Given the description of an element on the screen output the (x, y) to click on. 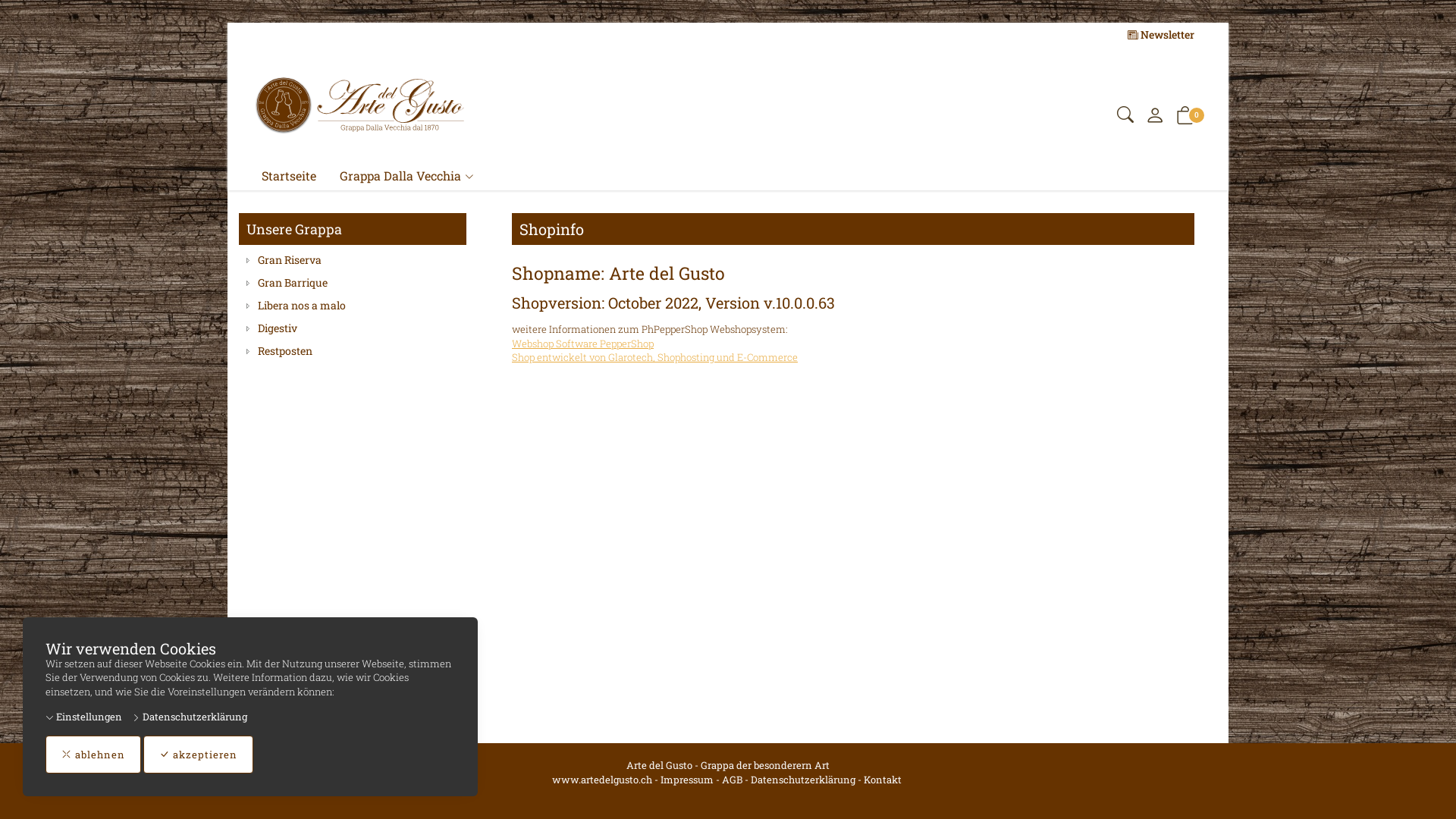
Impressum Element type: text (686, 779)
Einstellungen Element type: text (83, 716)
AGB Element type: text (731, 779)
Gran Barrique Element type: text (352, 282)
Restposten Element type: text (352, 350)
Grappa Dalla Vecchia Element type: text (407, 175)
Digestiv Element type: text (352, 327)
Mein Konto Element type: hover (1154, 118)
0 Element type: text (1185, 118)
Libera nos a malo Element type: text (352, 305)
Suche Element type: hover (1125, 117)
Kontakt Element type: text (882, 779)
Newsletter Element type: text (1160, 34)
Startseite Element type: text (289, 175)
akzeptieren Element type: text (198, 754)
ablehnen Element type: text (93, 754)
www.artedelgusto.ch Element type: text (602, 779)
Gran Riserva Element type: text (352, 259)
Shop entwickelt von Glarotech, Shophosting und E-Commerce Element type: text (654, 357)
Webshop Software PepperShop Element type: text (582, 343)
